Given the description of an element on the screen output the (x, y) to click on. 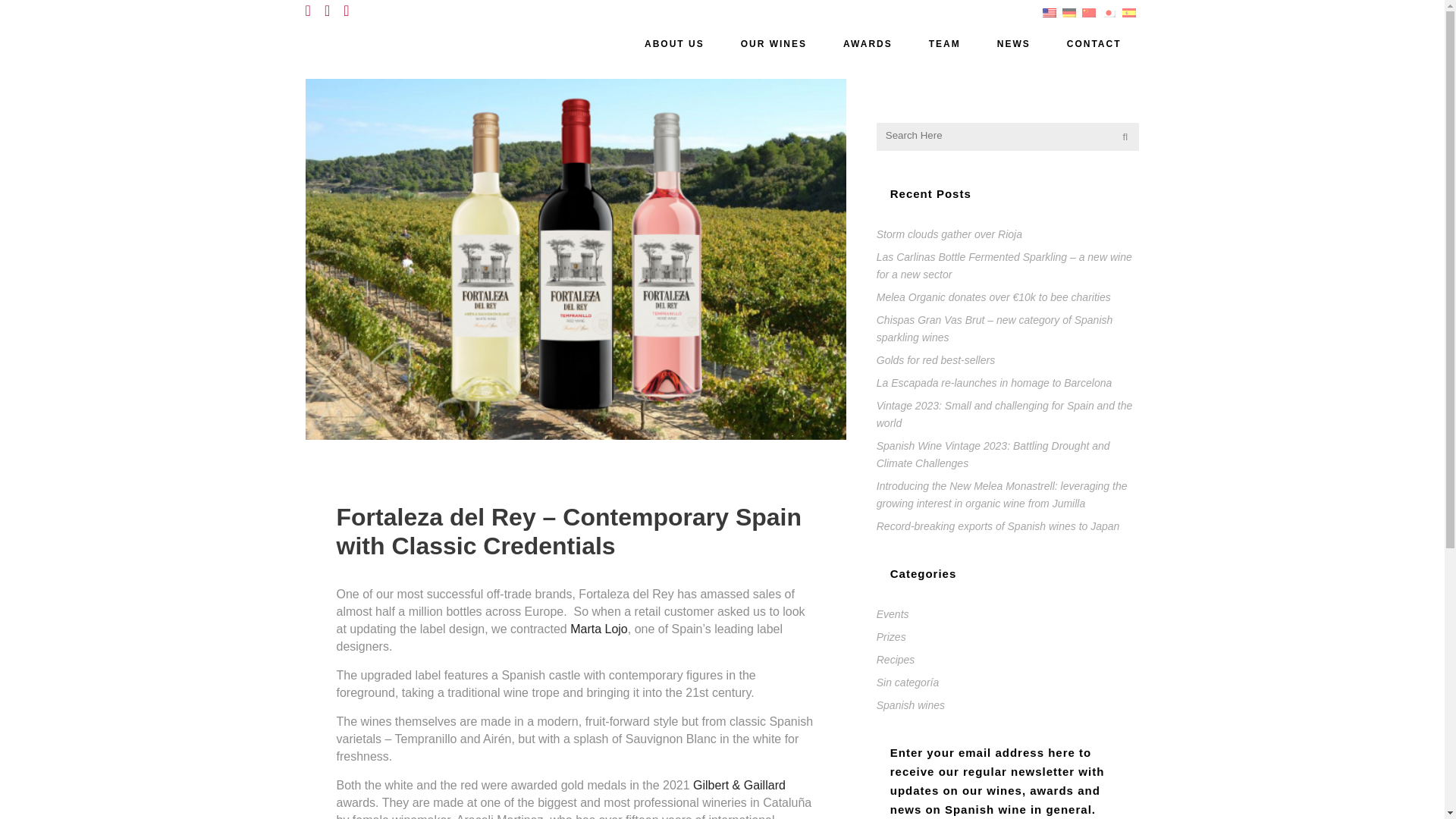
CONTACT (1094, 44)
AWARDS (868, 44)
TEAM (944, 44)
NEWS (1013, 44)
OUR WINES (773, 44)
ABOUT US (674, 44)
